Given the description of an element on the screen output the (x, y) to click on. 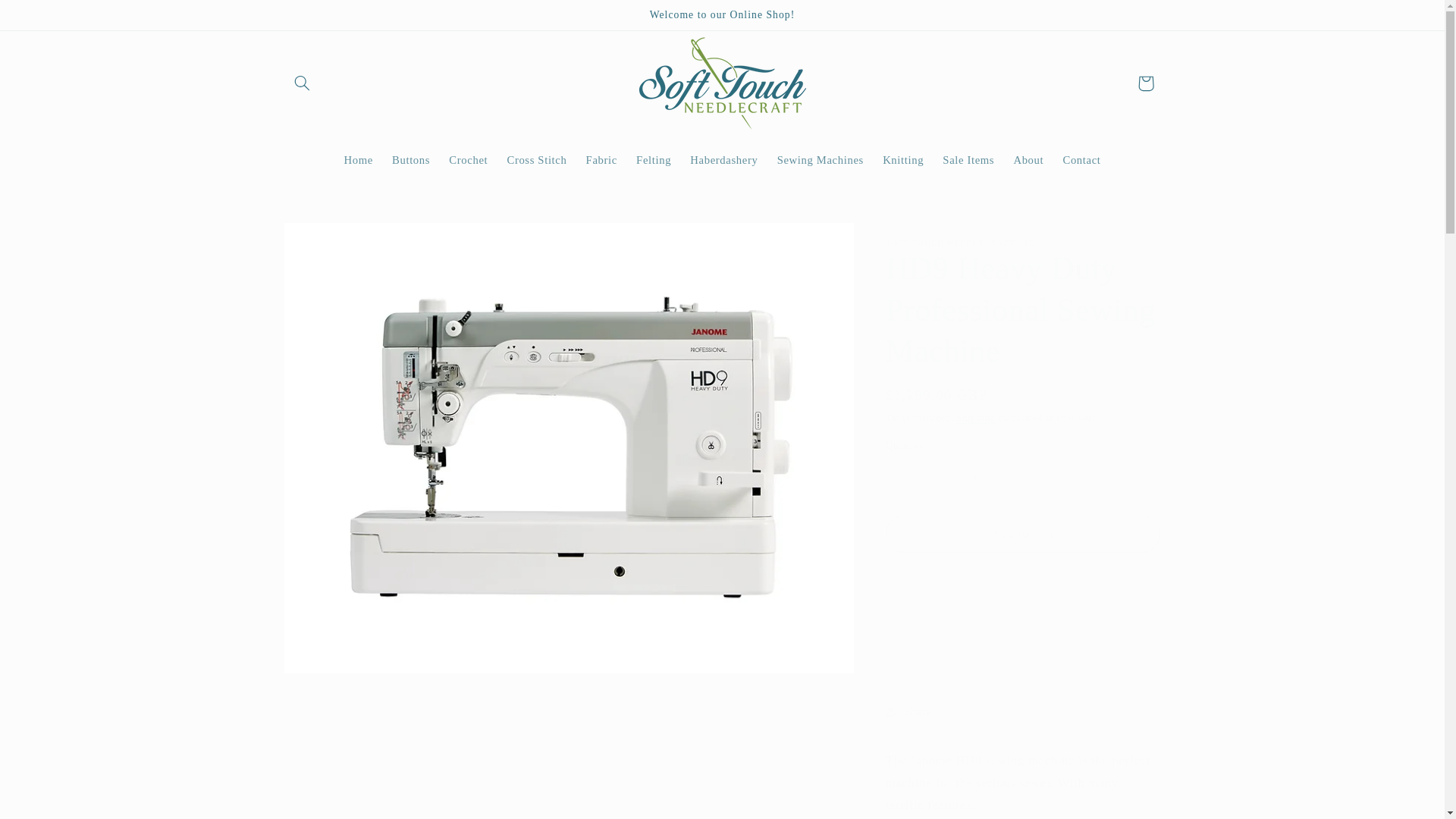
Buttons (410, 160)
Sale Items (968, 160)
About (1028, 160)
Skip to product information (331, 240)
Haberdashery (724, 160)
Cross Stitch (536, 160)
Contact (1080, 160)
Sewing Machines (819, 160)
Felting (654, 160)
Home (358, 160)
Skip to content (48, 18)
Fabric (601, 160)
Cart (1145, 83)
1 (939, 476)
